Given the description of an element on the screen output the (x, y) to click on. 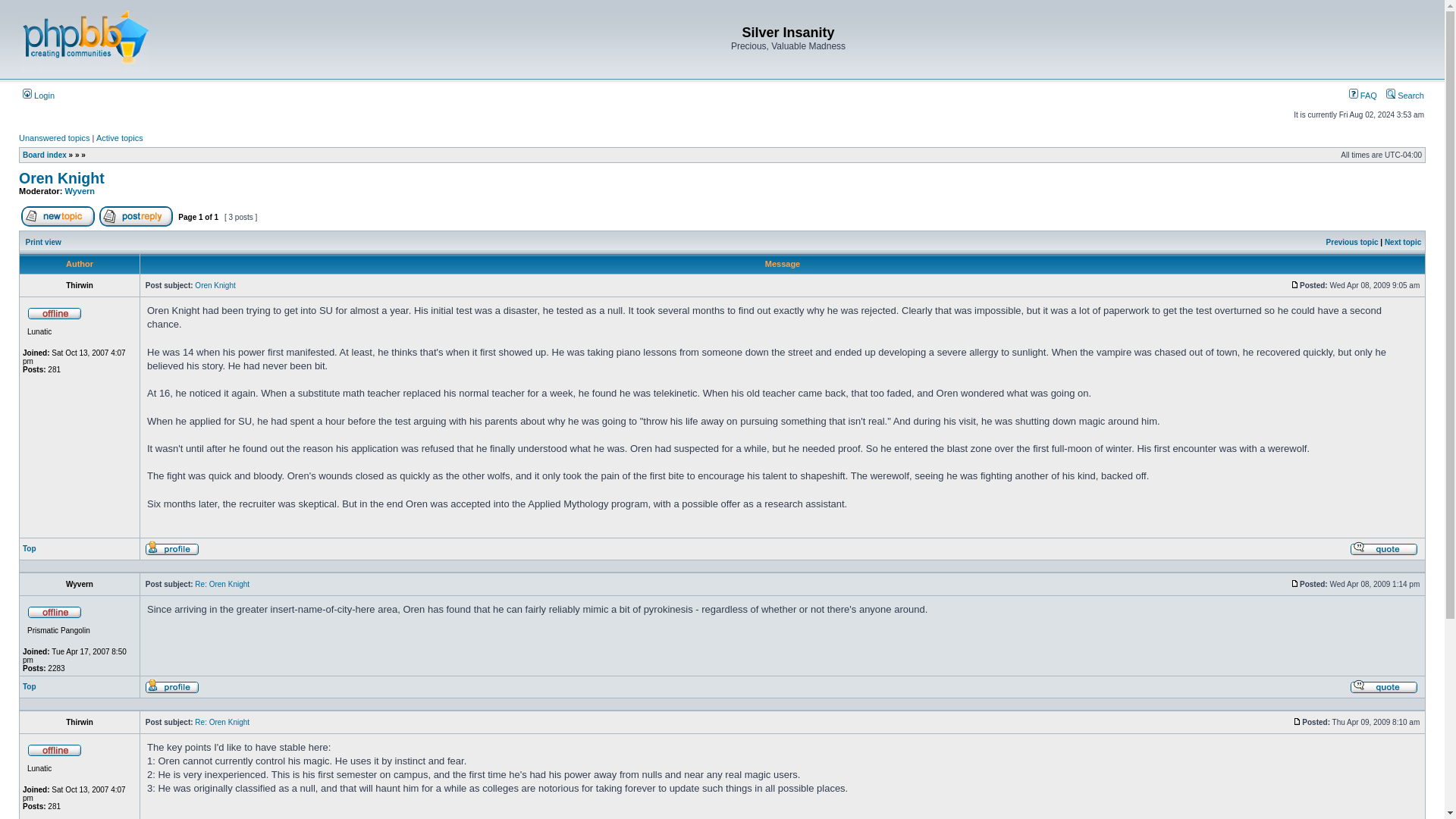
Post new topic (57, 216)
Offline (54, 312)
Post (1296, 722)
Re: Oren Knight (221, 583)
Top (29, 548)
Reply with quote (1383, 691)
Post (1295, 583)
Login (39, 94)
Profile (171, 691)
Profile (171, 552)
Profile (171, 548)
Reply with quote (1383, 552)
Post (1295, 583)
Unanswered topics (54, 137)
Print view (43, 242)
